Given the description of an element on the screen output the (x, y) to click on. 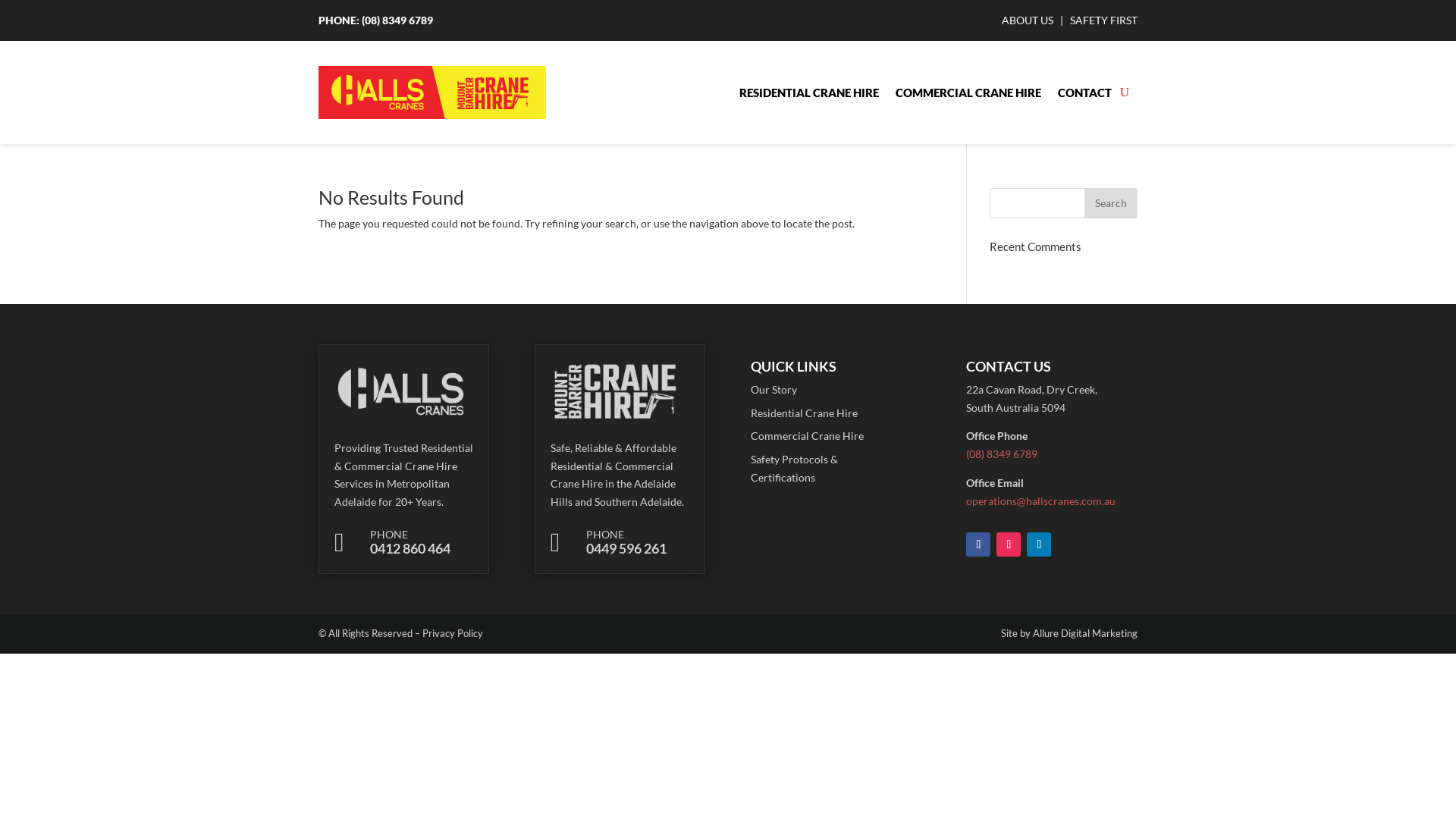
Commercial Crane Hire Element type: text (806, 435)
(08) 8349 6789 Element type: text (397, 19)
Follow on LinkedIn Element type: hover (1038, 544)
mount-barker-crane-hire-logo-white Element type: hover (616, 390)
SAFETY FIRST Element type: text (1103, 19)
Follow on Instagram Element type: hover (1008, 544)
Residential Crane Hire Element type: text (803, 412)
Our Story Element type: text (773, 388)
ABOUT US Element type: text (1027, 19)
operations@hallscranes.com.au Element type: text (1040, 500)
Allure Digital Marketing Element type: text (1084, 633)
CONTACT Element type: text (1084, 92)
Safety Protocols & Certifications Element type: text (793, 467)
Search Element type: text (1110, 203)
halls-cranes-logo-white Element type: hover (400, 390)
Follow on Facebook Element type: hover (978, 544)
COMMERCIAL CRANE HIRE Element type: text (968, 92)
Privacy Policy Element type: text (452, 633)
RESIDENTIAL CRANE HIRE Element type: text (808, 92)
(08) 8349 6789 Element type: text (1001, 453)
